Given the description of an element on the screen output the (x, y) to click on. 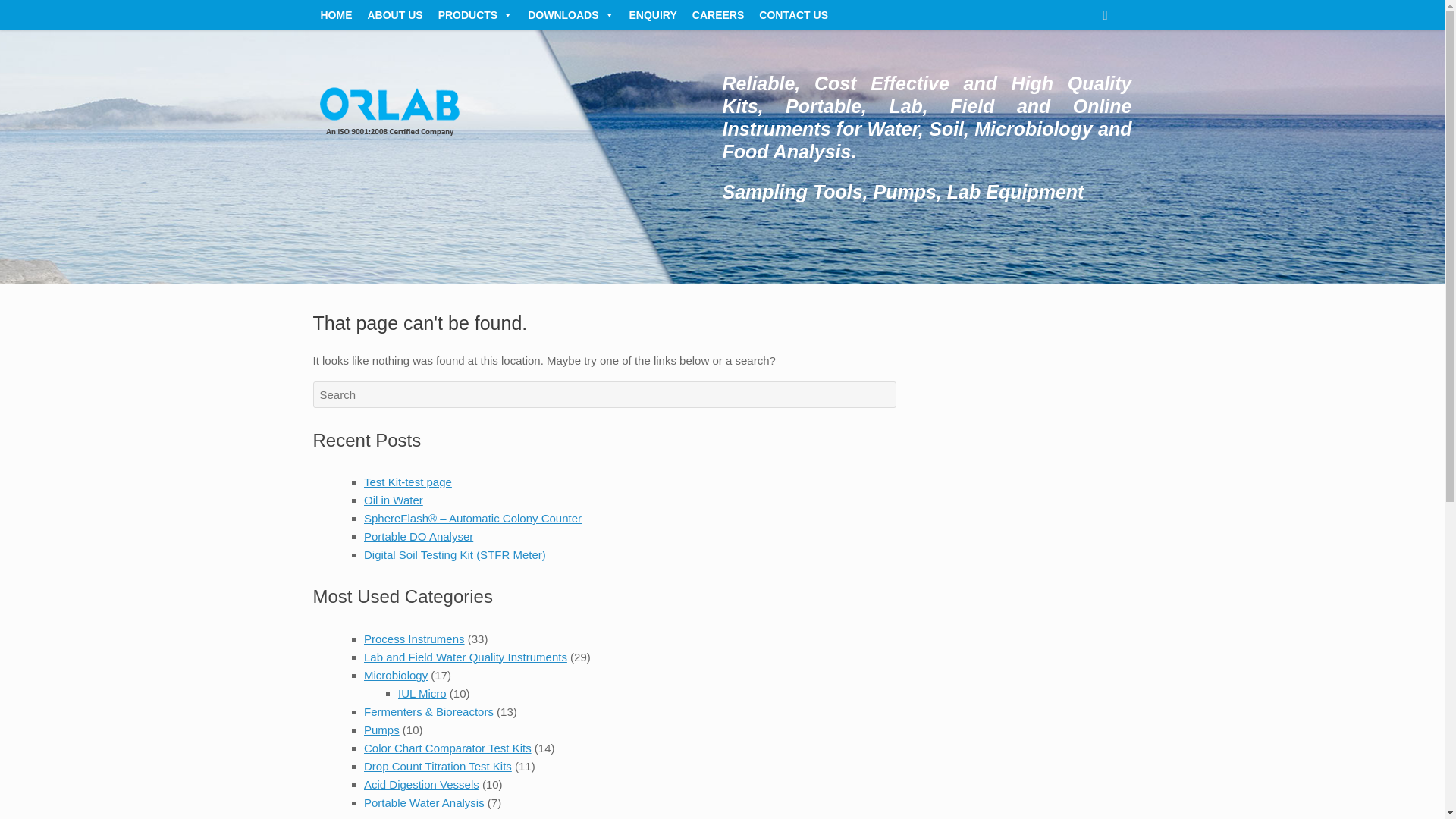
Orlab Instruments Pvt. Ltd. (388, 156)
ABOUT US (394, 15)
HOME (336, 15)
PRODUCTS (475, 15)
